Given the description of an element on the screen output the (x, y) to click on. 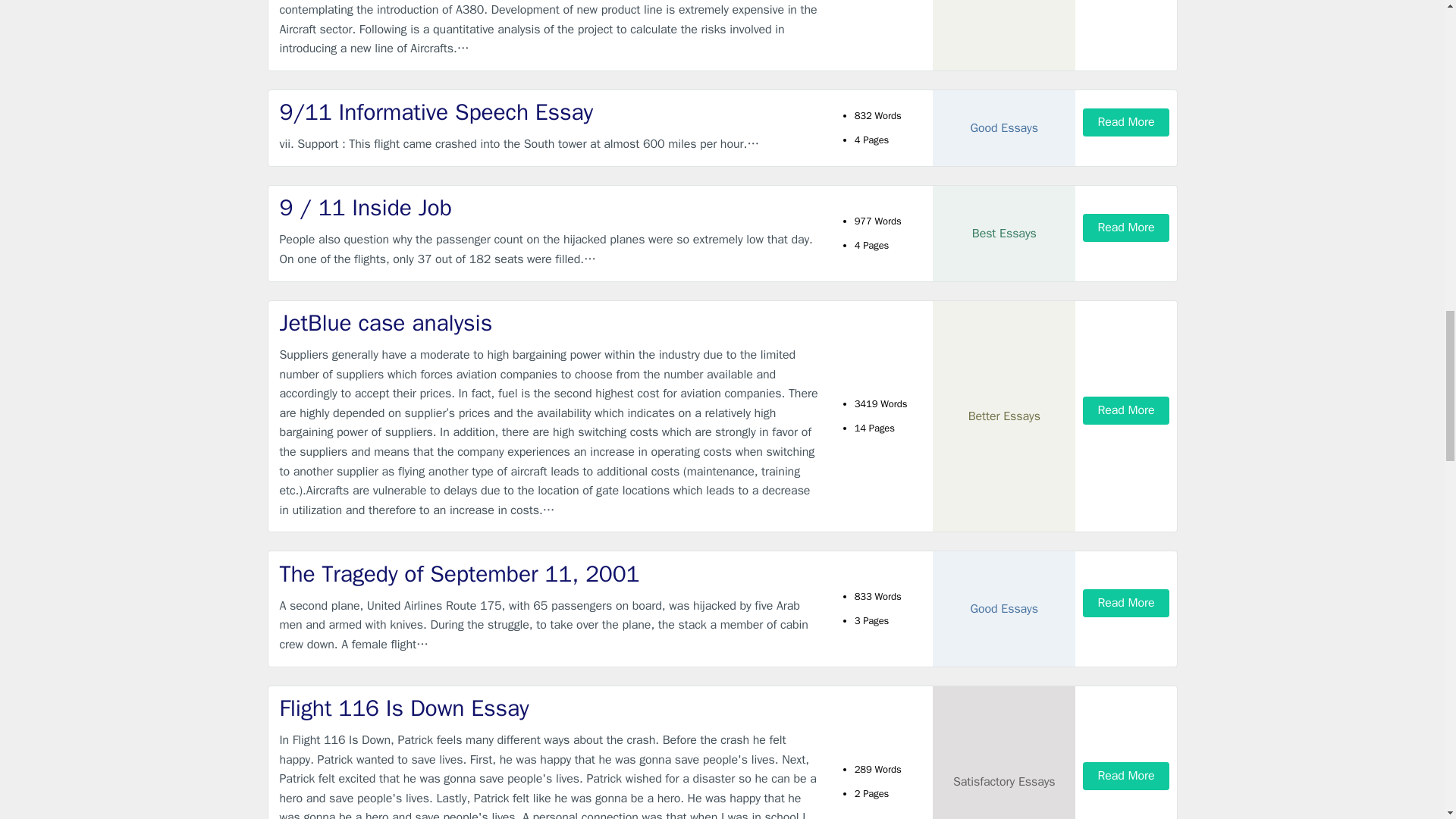
Read More (1126, 410)
The Tragedy of September 11, 2001 (548, 573)
Read More (1126, 227)
Flight 116 Is Down Essay (548, 707)
Read More (1126, 776)
Read More (1126, 602)
Read More (1126, 122)
JetBlue case analysis (548, 323)
